Given the description of an element on the screen output the (x, y) to click on. 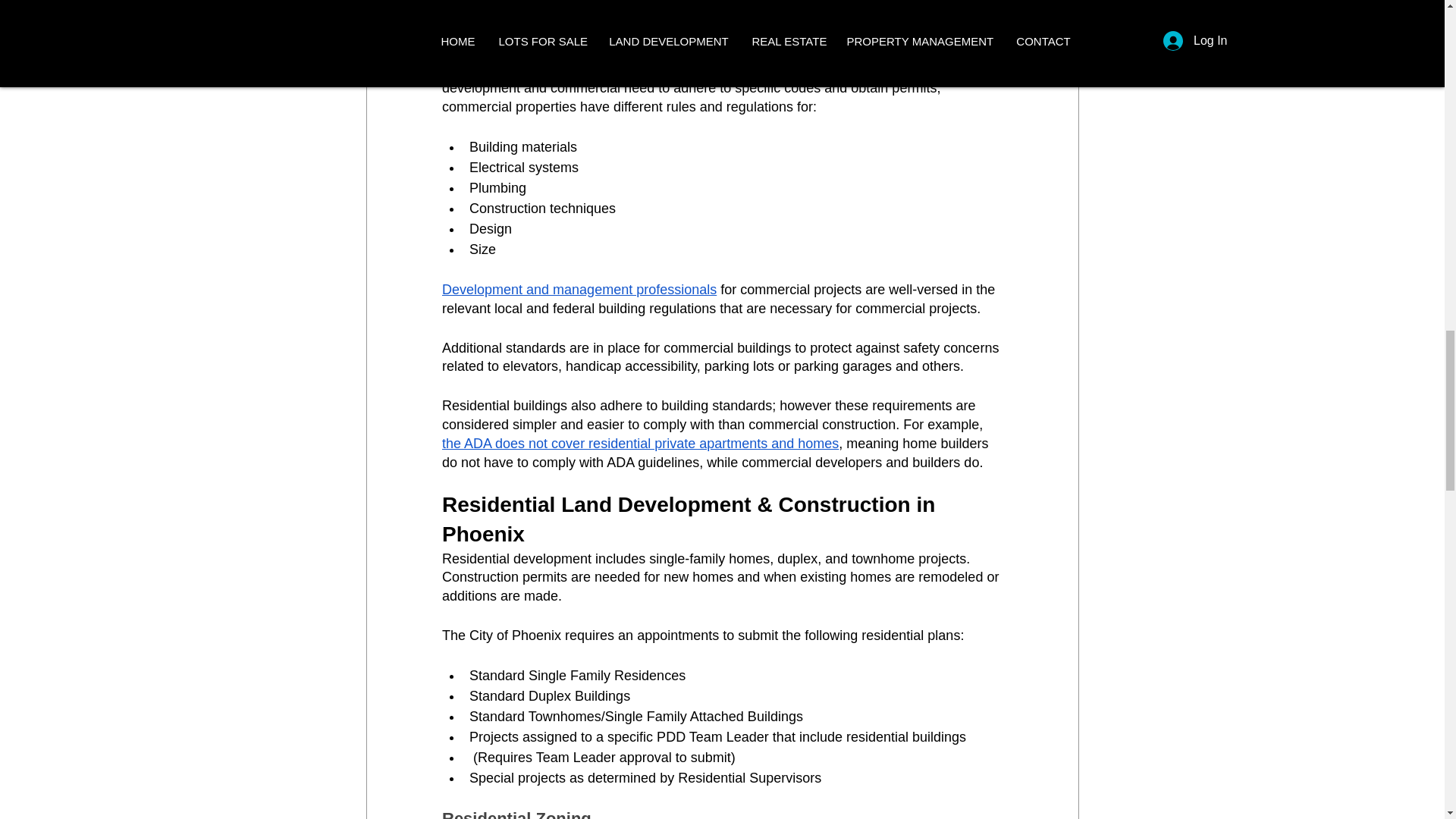
Development and management professionals (578, 289)
Special Inspections (527, 7)
